Given the description of an element on the screen output the (x, y) to click on. 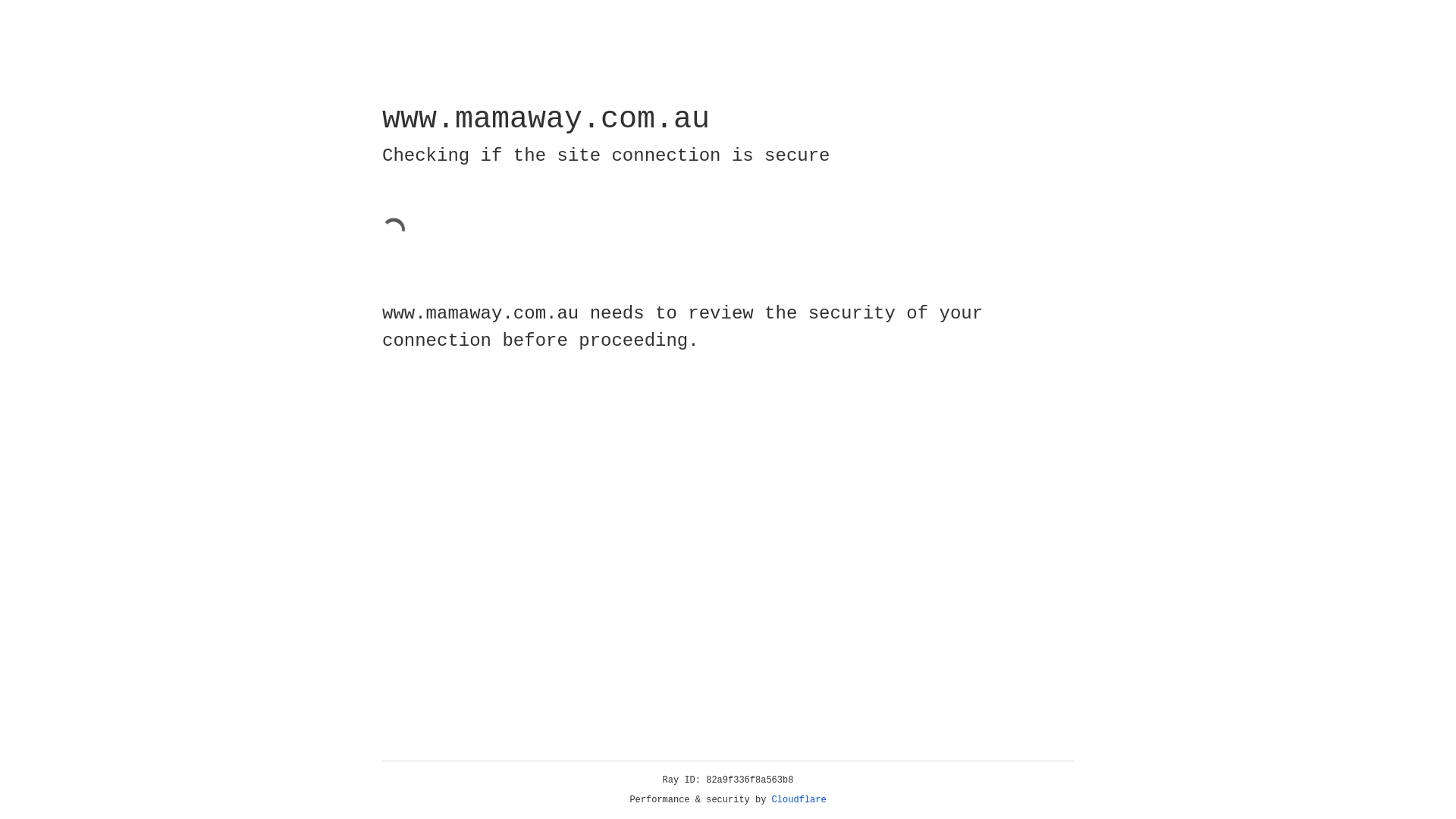
Cloudflare Element type: text (798, 799)
